Given the description of an element on the screen output the (x, y) to click on. 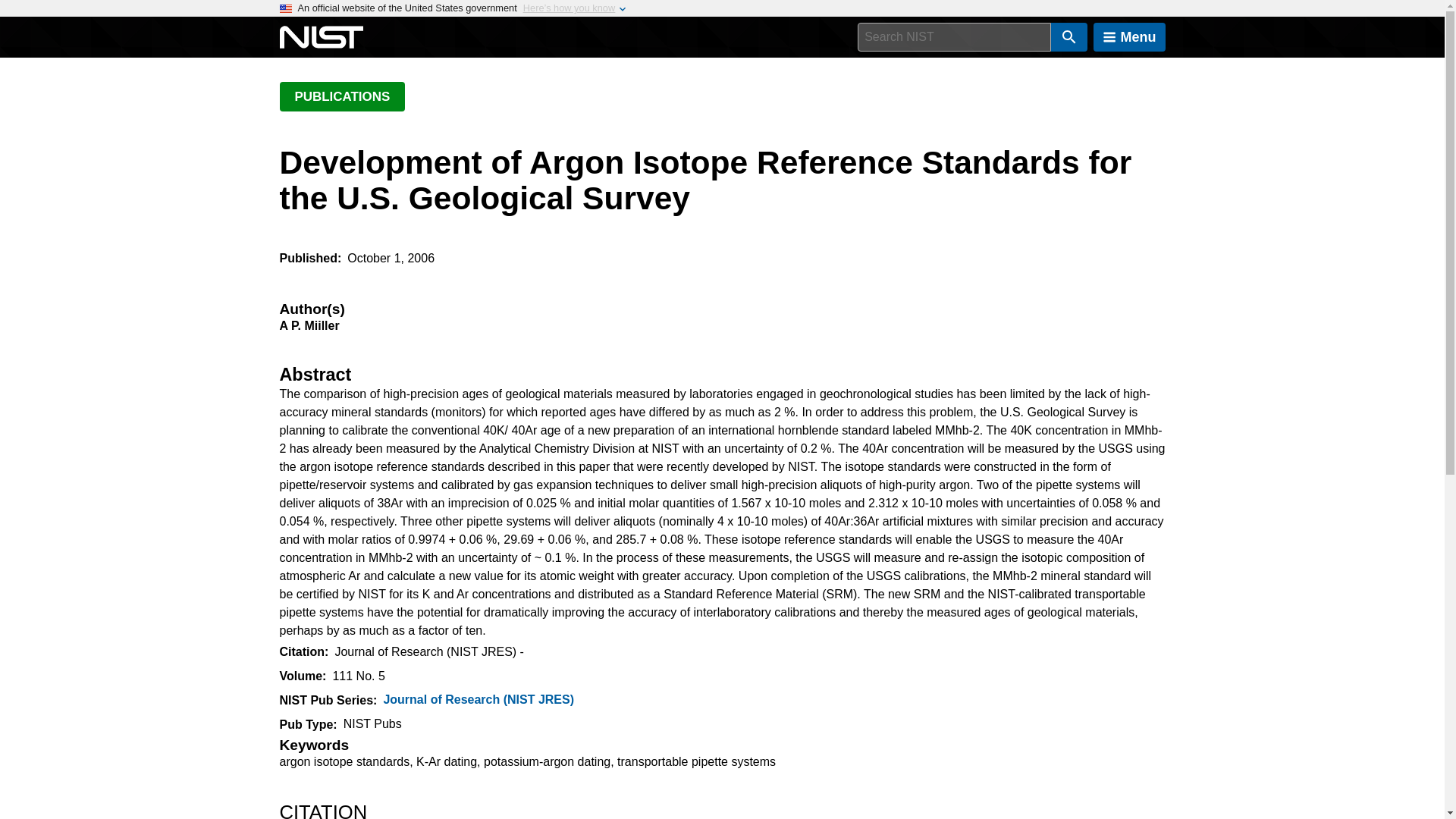
National Institute of Standards and Technology (320, 36)
Menu (1129, 36)
PUBLICATIONS (341, 96)
